Given the description of an element on the screen output the (x, y) to click on. 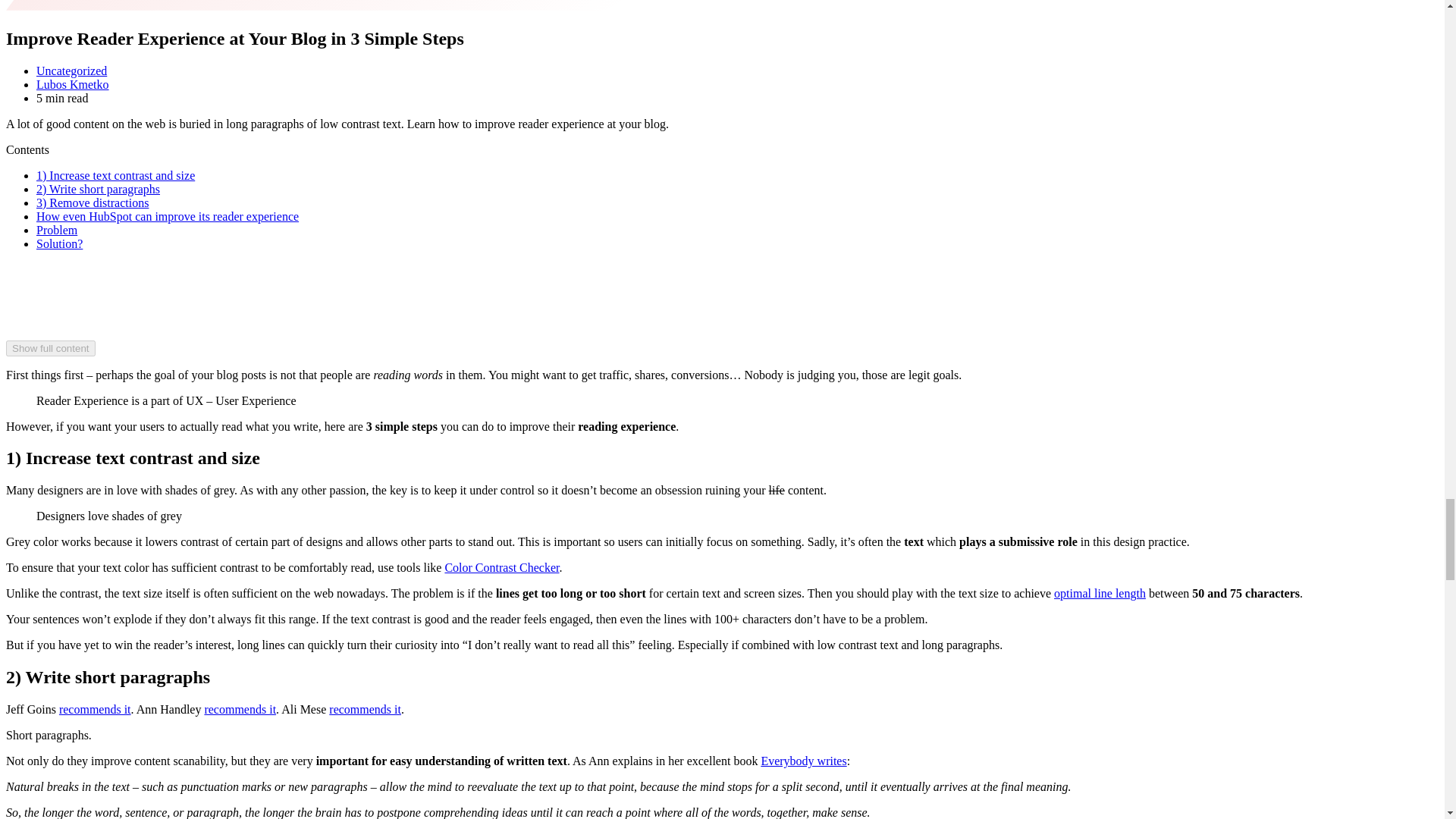
recommends it (365, 708)
Uncategorized (71, 70)
optimal line length (1099, 593)
Problem (56, 229)
recommends it (95, 708)
Solution? (59, 243)
How even HubSpot can improve its reader experience (167, 215)
Show full content (50, 348)
recommends it (239, 708)
Color Contrast Checker (501, 567)
Lubos Kmetko (72, 83)
Everybody writes (802, 760)
